Given the description of an element on the screen output the (x, y) to click on. 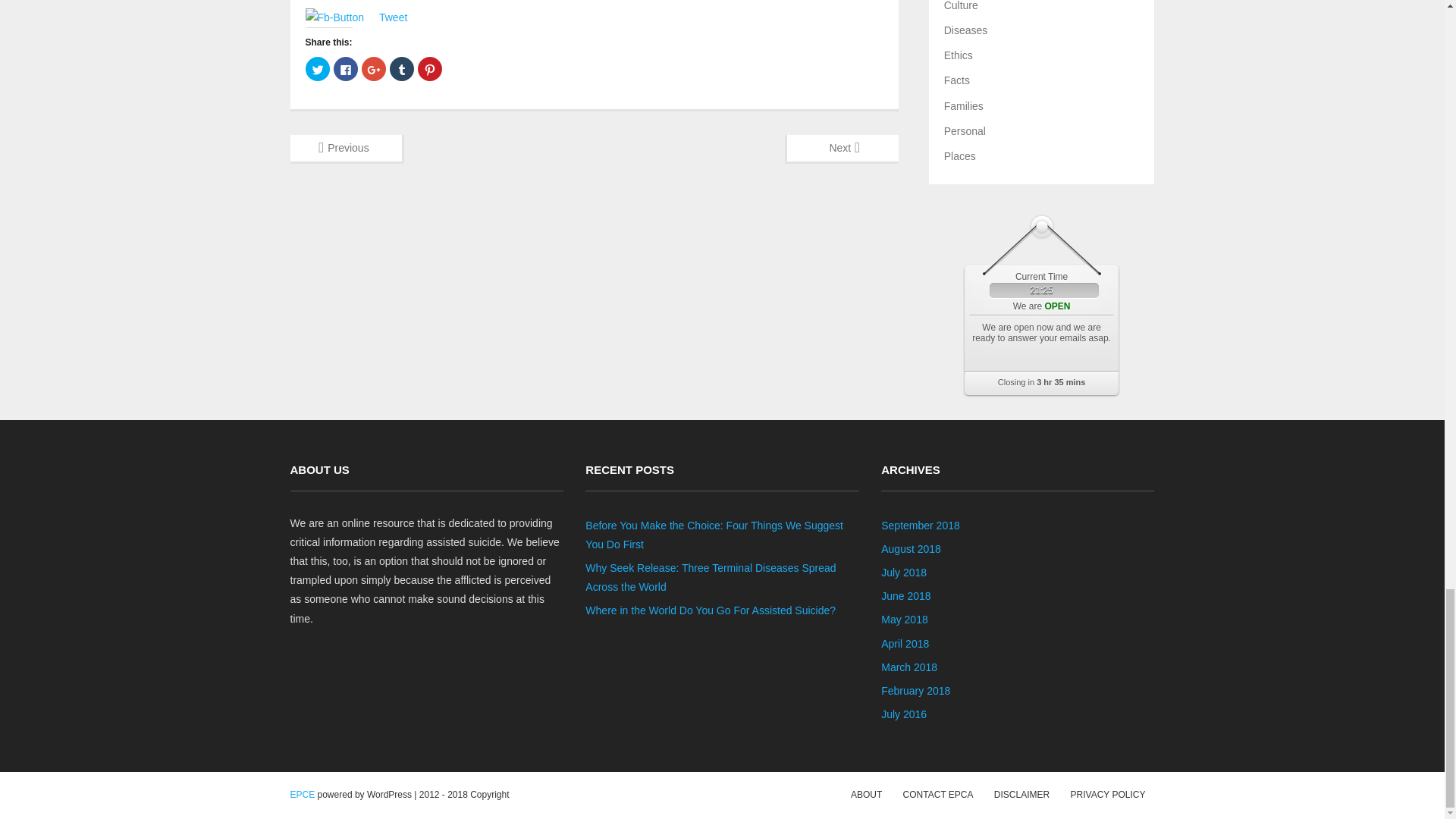
Click to share on Facebook (345, 68)
Click to share on Twitter (316, 68)
Fb-Button (333, 17)
Tweet (392, 17)
Click to share on Pinterest (428, 68)
Click to share on Tumblr (401, 68)
